Given the description of an element on the screen output the (x, y) to click on. 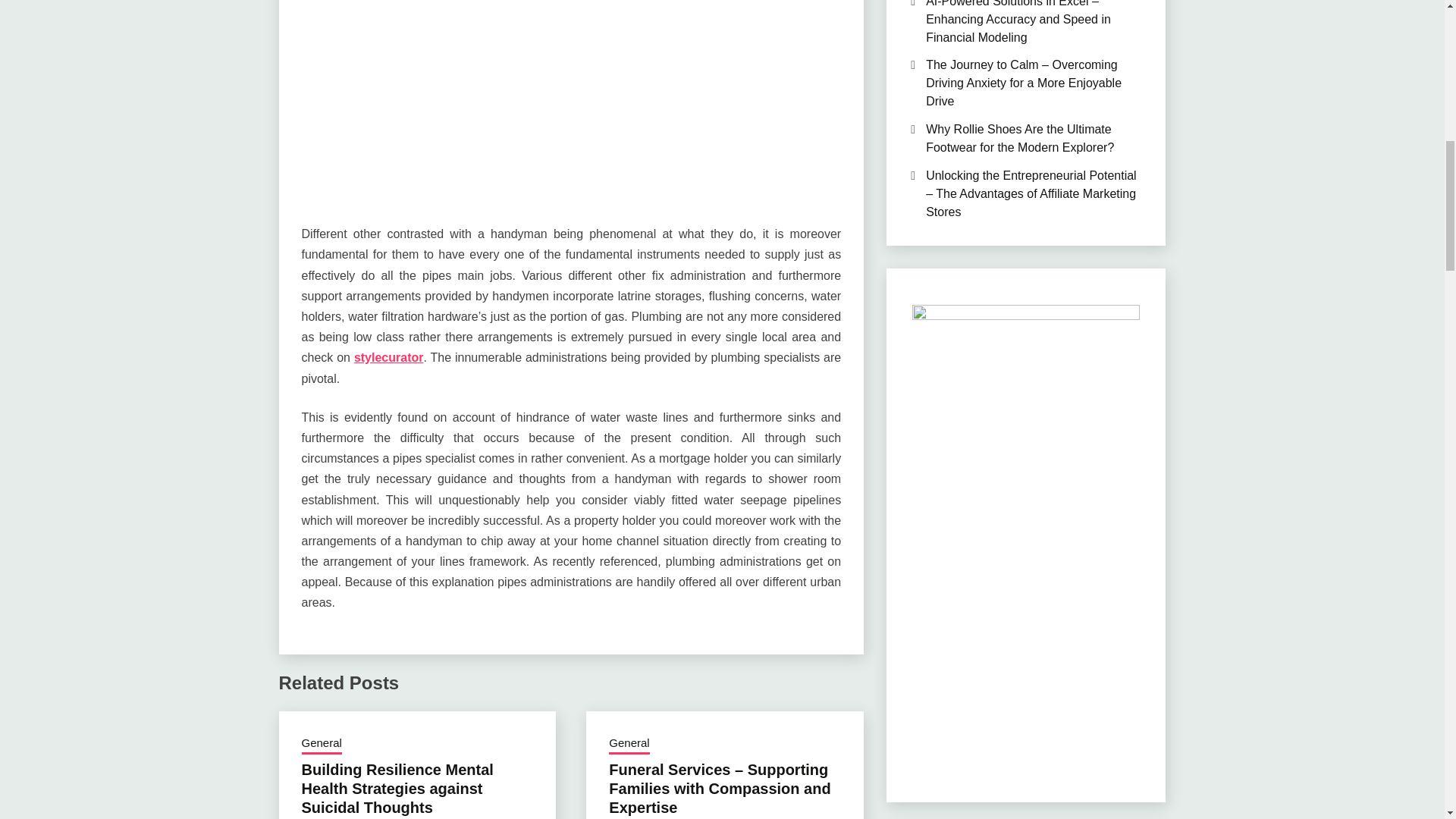
General (628, 744)
General (321, 744)
stylecurator (388, 357)
